Given the description of an element on the screen output the (x, y) to click on. 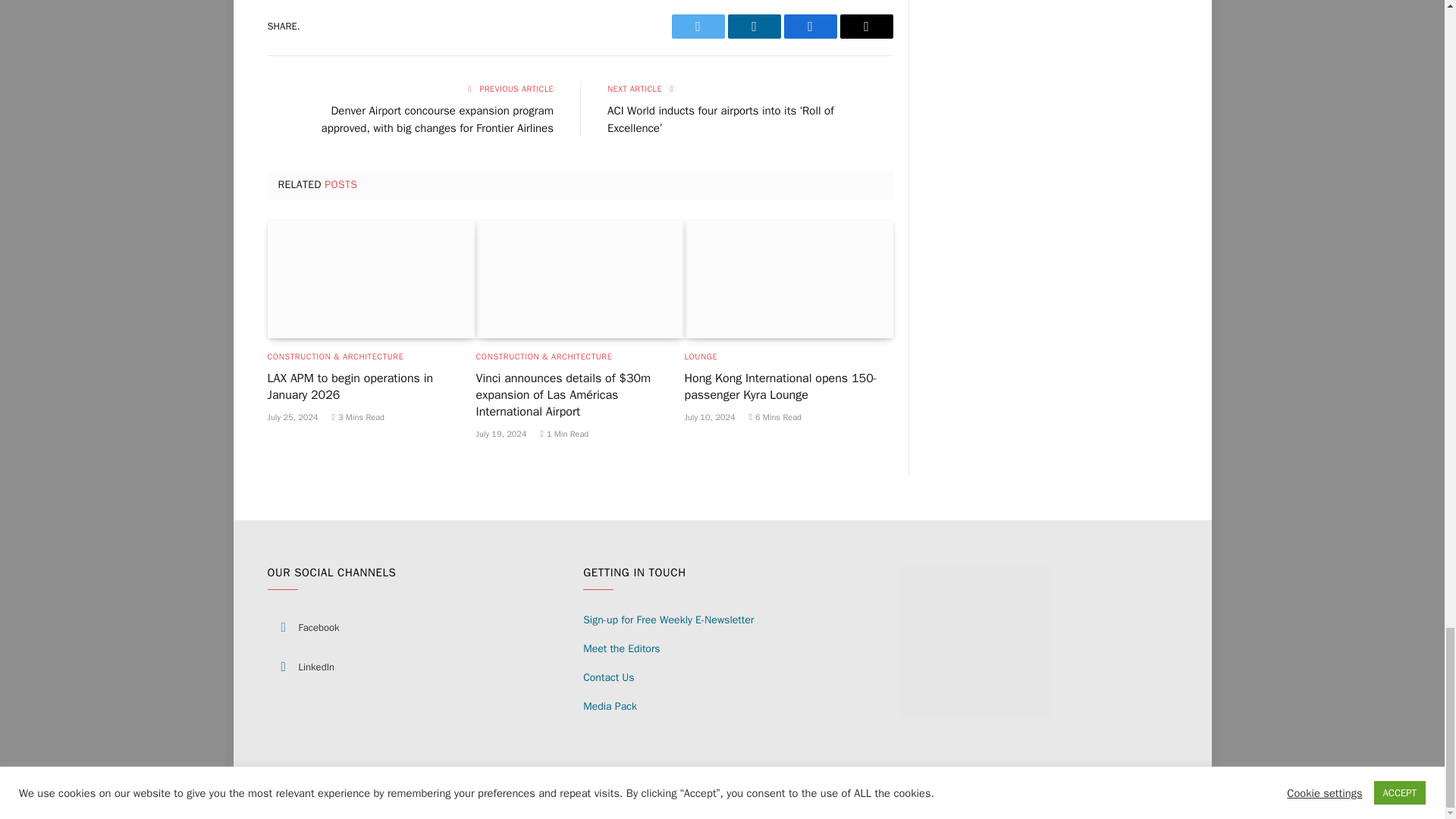
LAX APM to begin operations in January 2026 (371, 279)
Share on LinkedIn (754, 26)
Share via Email (866, 26)
Share on Facebook (810, 26)
